Given the description of an element on the screen output the (x, y) to click on. 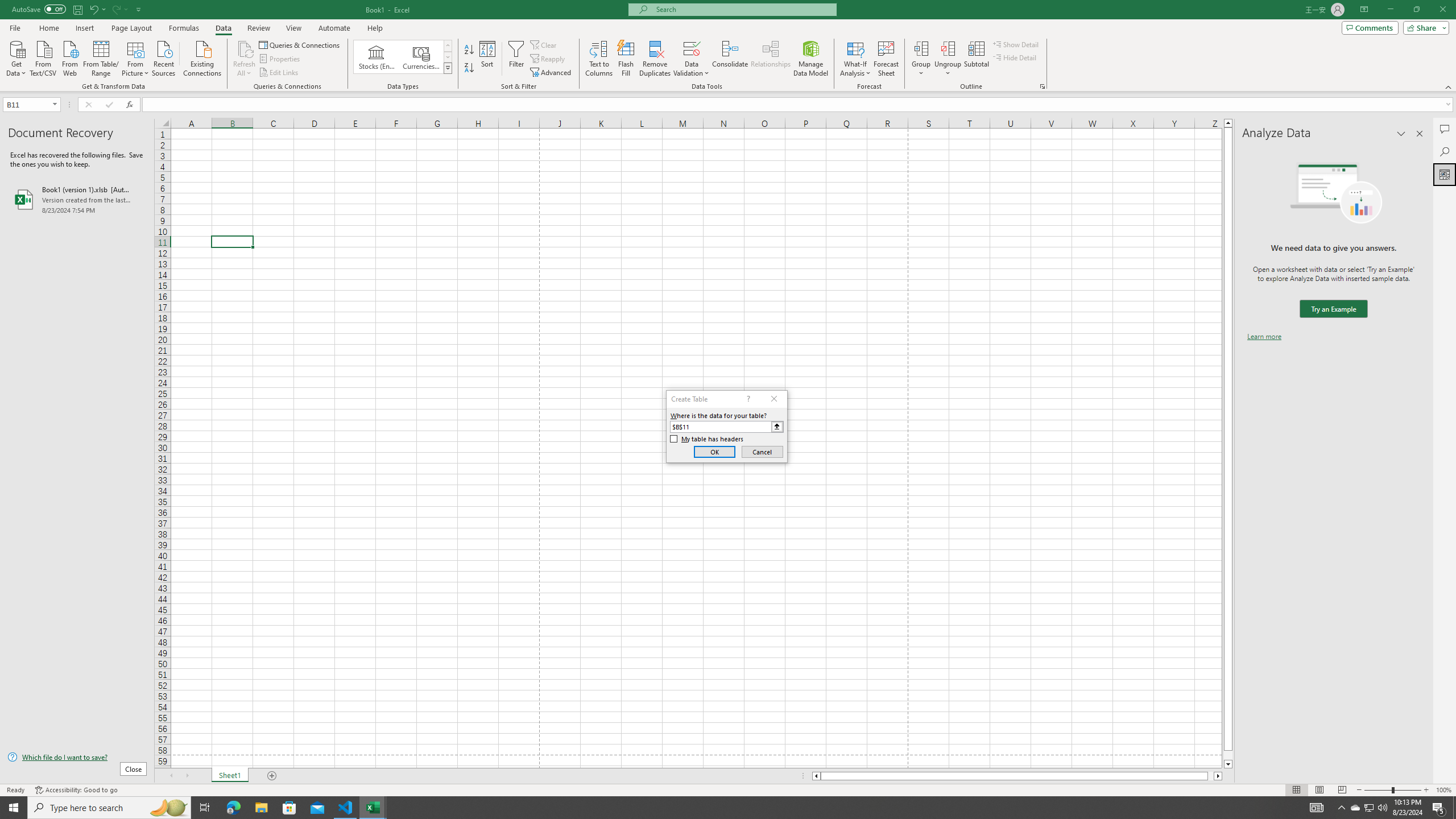
Consolidate... (729, 58)
